Given the description of an element on the screen output the (x, y) to click on. 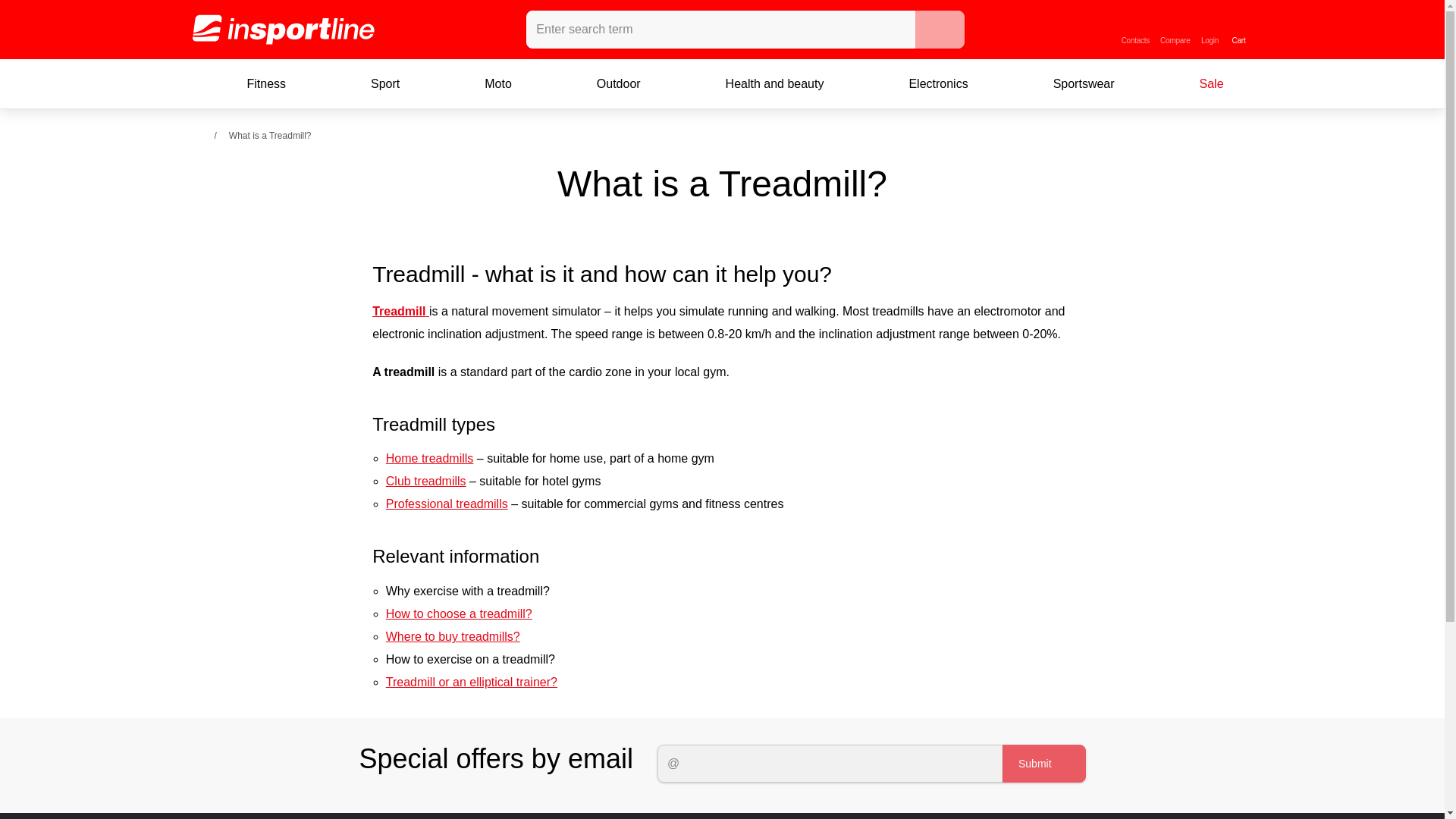
Moto (485, 84)
Contacts (1135, 29)
Fitness (252, 84)
Electronics (925, 84)
Sportswear (1070, 84)
Sport (372, 84)
Sale (1198, 84)
Outdoor (1184, 29)
Compare (605, 84)
